Given the description of an element on the screen output the (x, y) to click on. 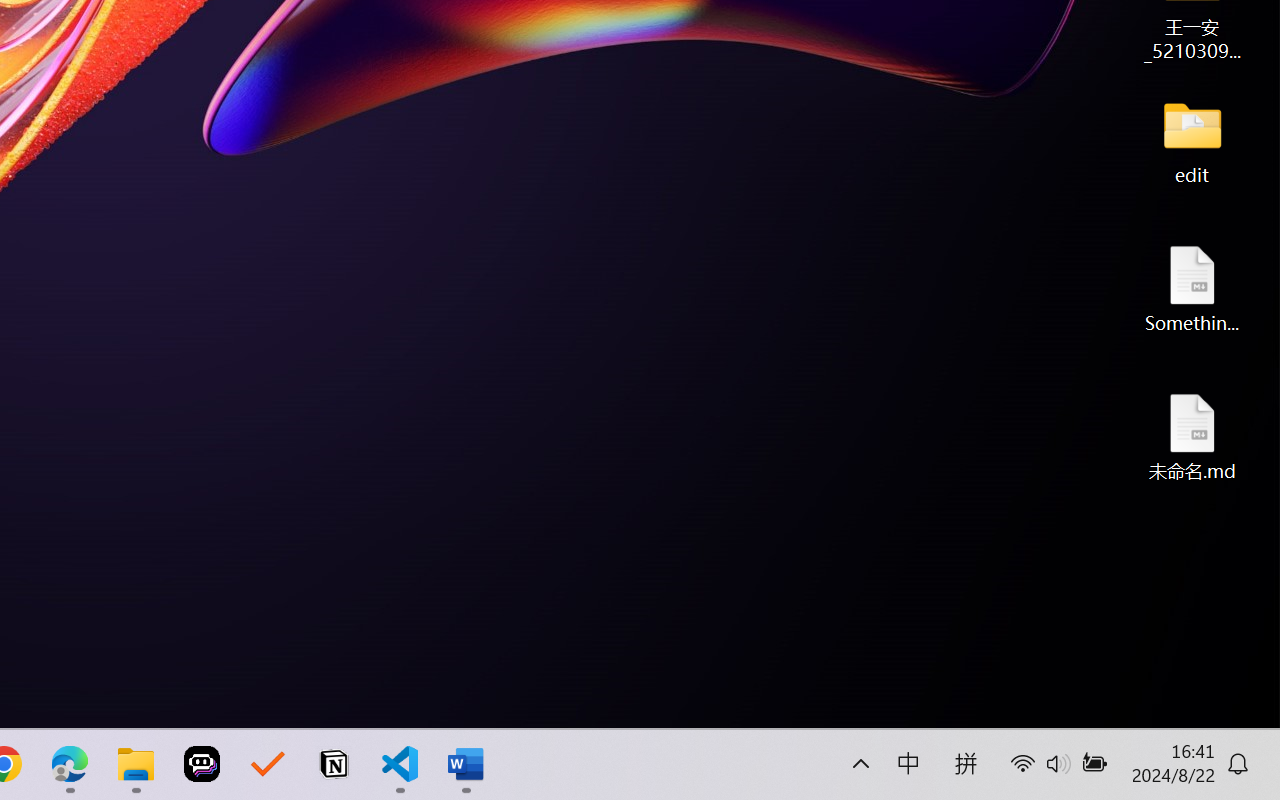
edit (1192, 140)
Notion (333, 764)
Something.md (1192, 288)
